Given the description of an element on the screen output the (x, y) to click on. 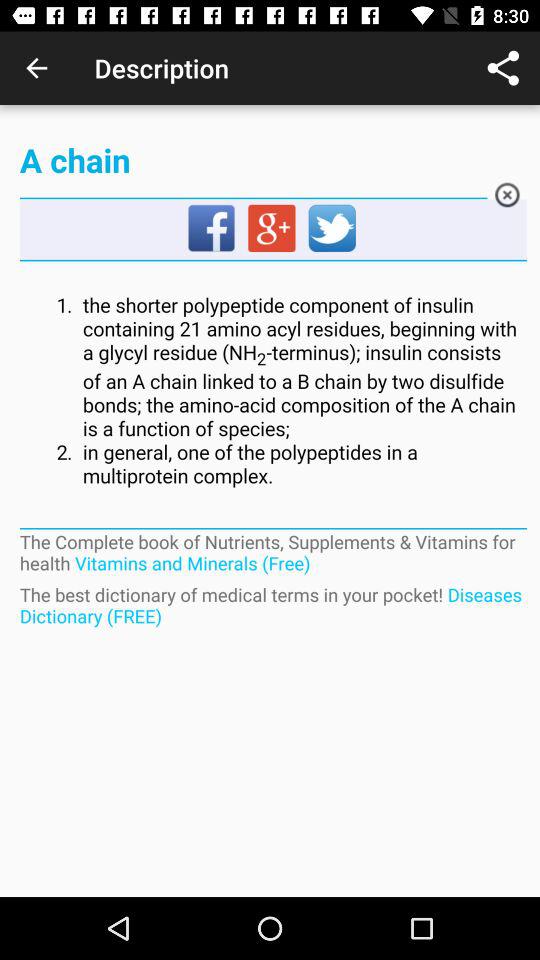
go to facebook (212, 229)
